Given the description of an element on the screen output the (x, y) to click on. 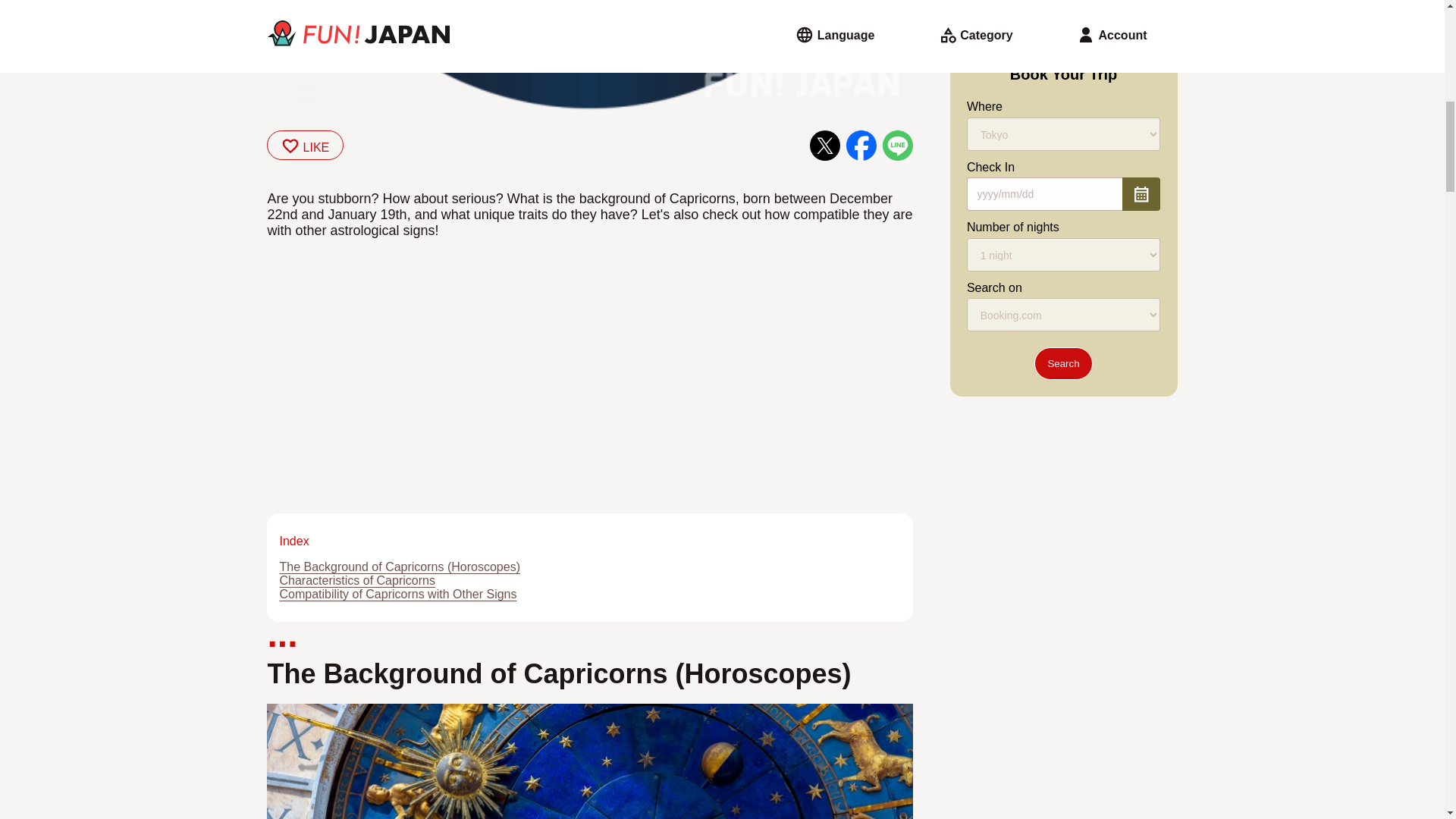
Compatibility of Capricorns with Other Signs (397, 594)
Characteristics of Capricorns (356, 580)
